Given the description of an element on the screen output the (x, y) to click on. 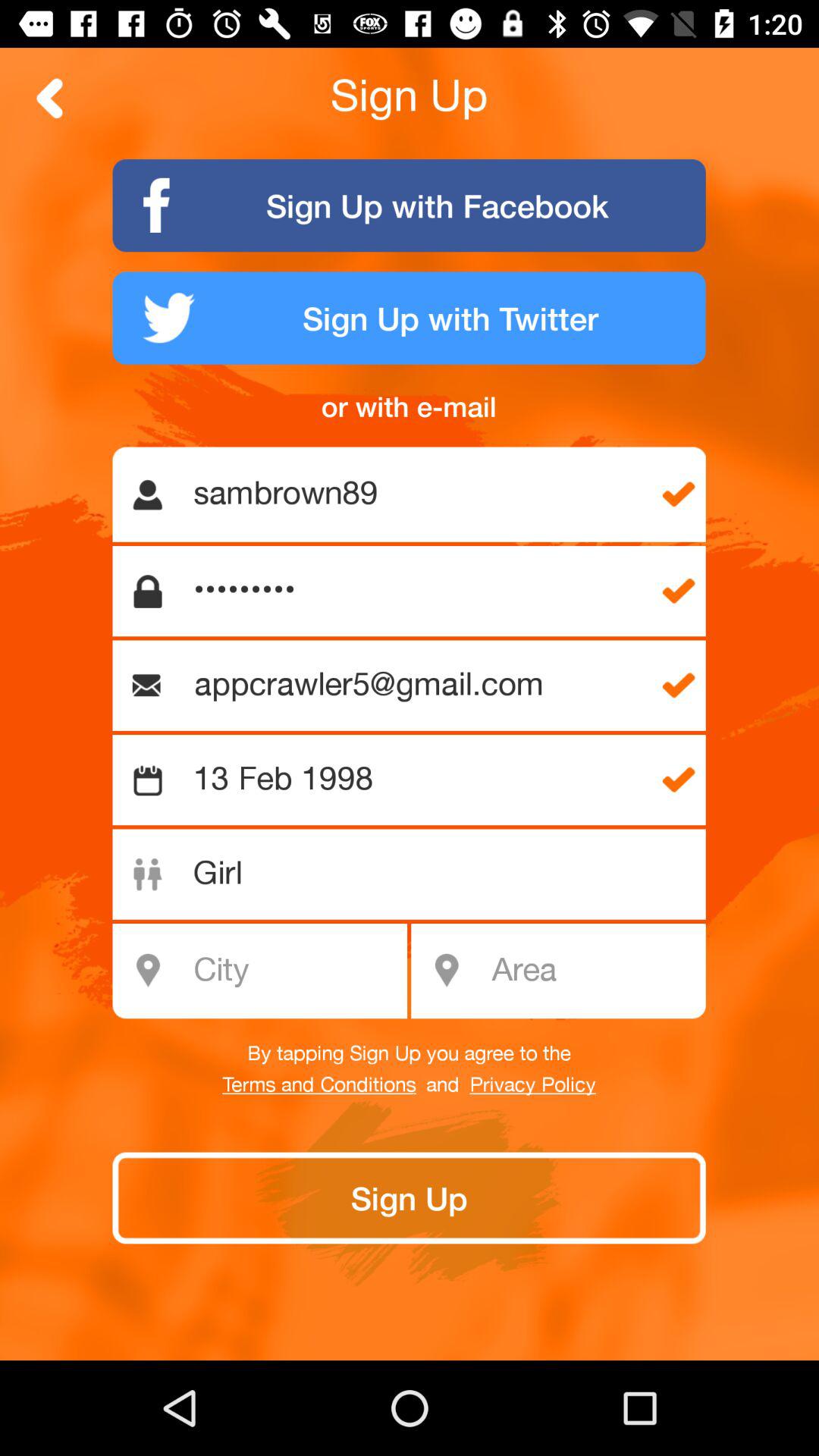
turn off item below or with e icon (417, 494)
